Given the description of an element on the screen output the (x, y) to click on. 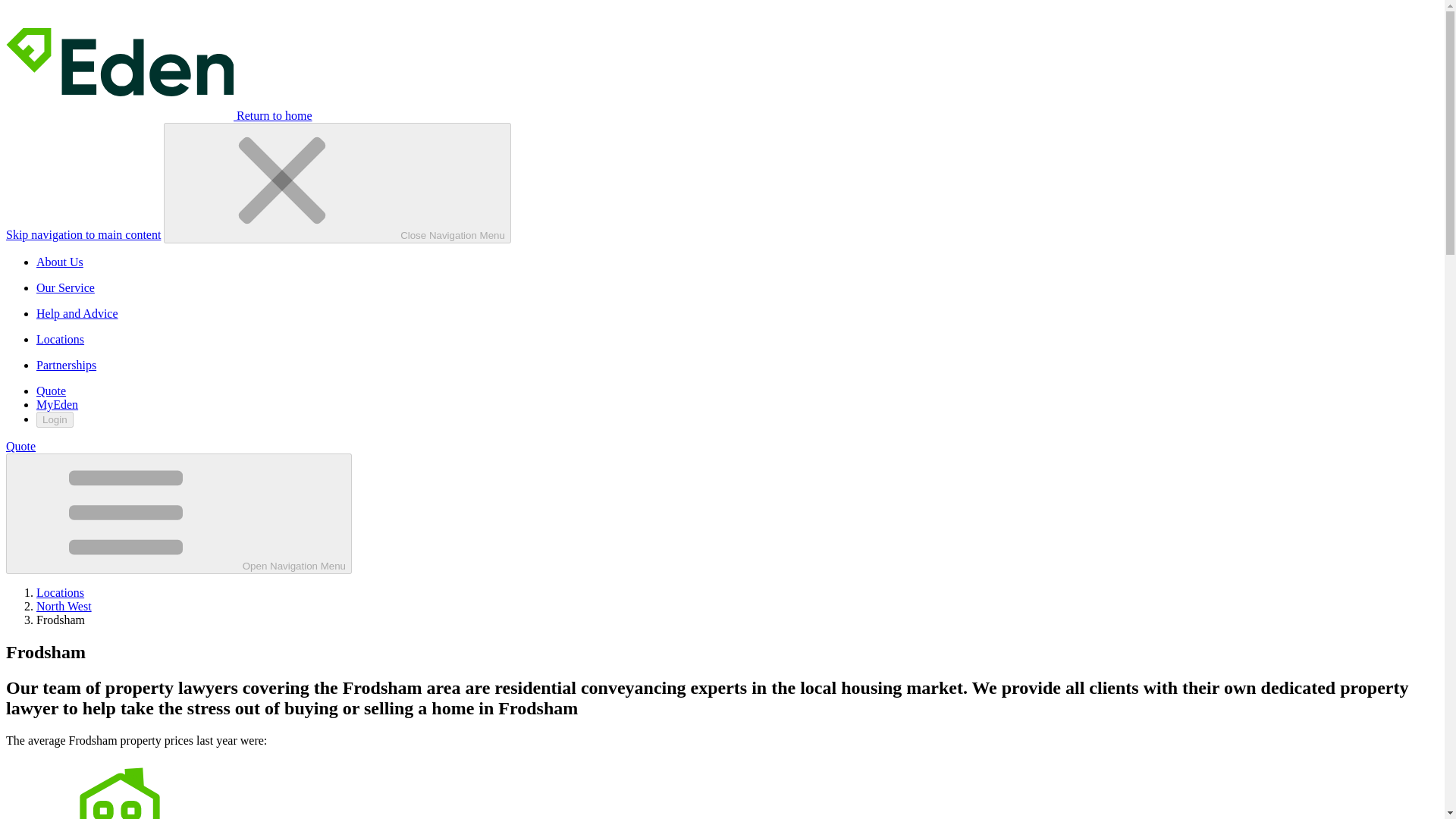
Close Navigation Menu (337, 182)
Login (55, 419)
Open Navigation Menu (178, 513)
North West (63, 605)
Return to home (159, 115)
Quote (19, 445)
Locations (60, 592)
Quote (50, 390)
Skip navigation to main content (82, 234)
MyEden (57, 404)
